Given the description of an element on the screen output the (x, y) to click on. 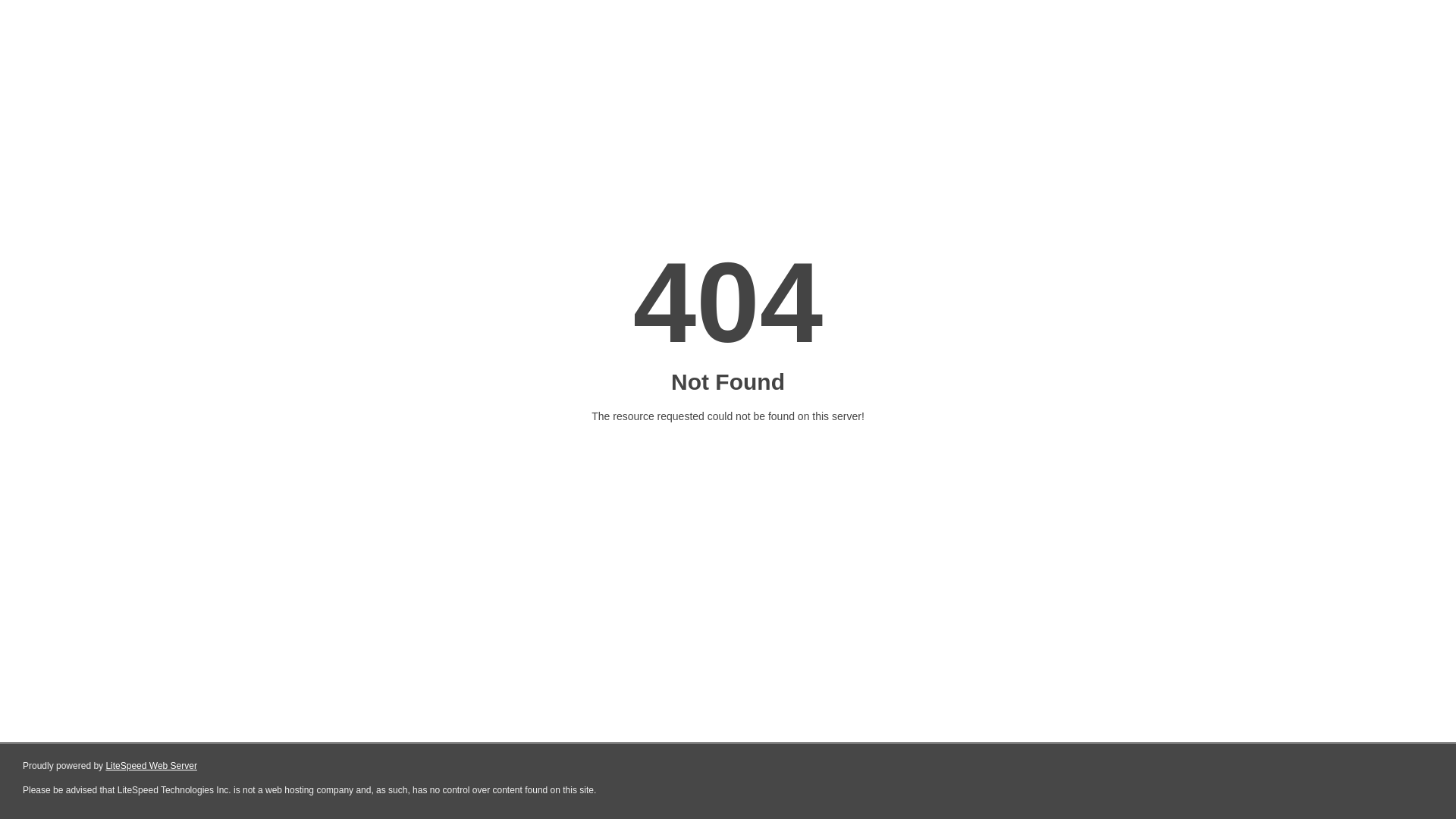
LiteSpeed Web Server Element type: text (151, 765)
